Given the description of an element on the screen output the (x, y) to click on. 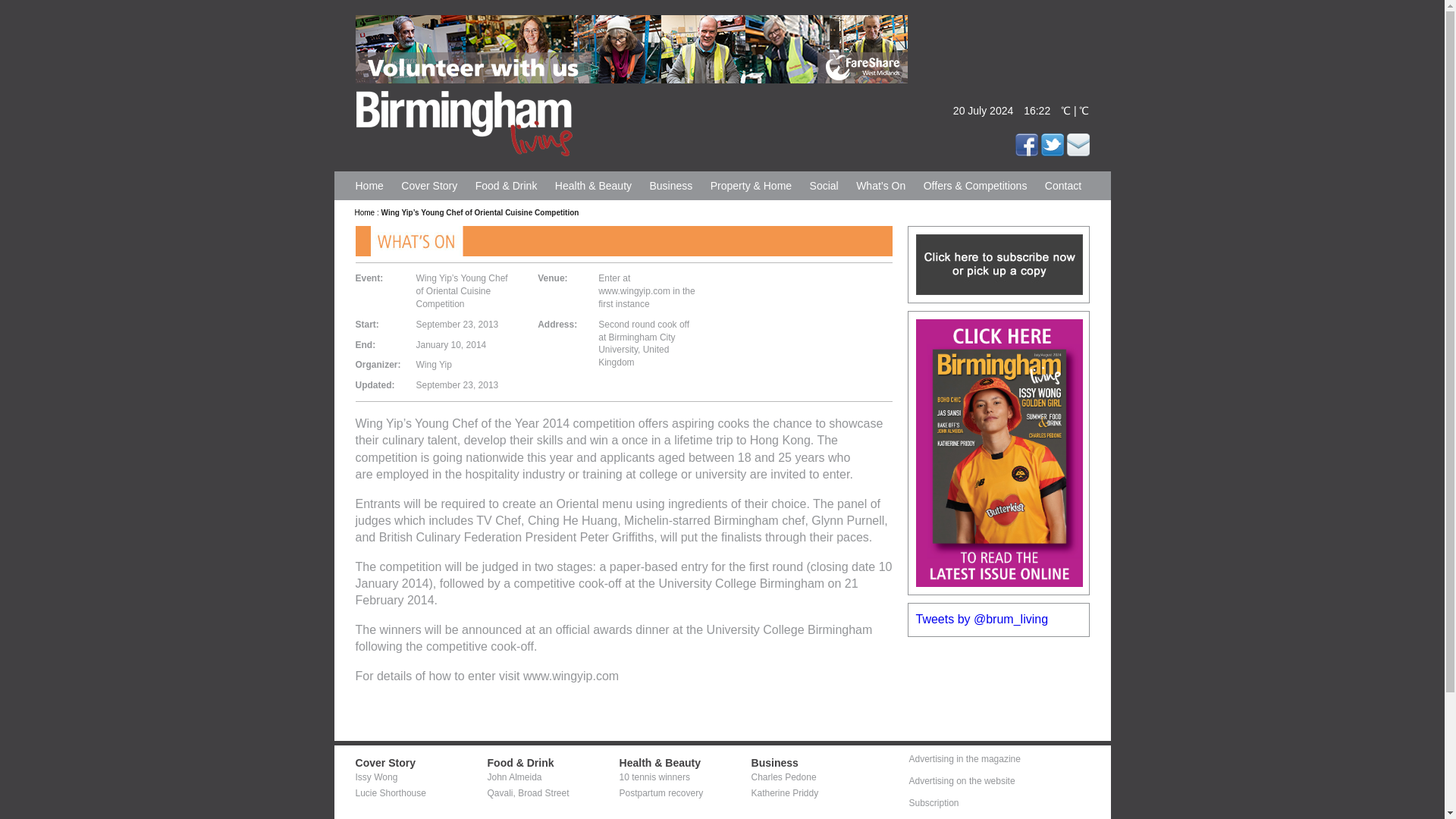
Lucie Shorthouse (390, 792)
Postpartum recovery (660, 792)
Charles Pedone (783, 777)
Cover Story (384, 762)
Permanent link to Charles Pedone (783, 777)
Permanent link to Qavali, Broad Street (527, 792)
Birmingham Living (463, 121)
Permanent link to 10 tennis winners (653, 777)
John Almeida (513, 777)
Home (365, 212)
Permanent link to Lucie Shorthouse (390, 792)
Issy Wong (376, 777)
Contact (1063, 185)
Wing Yip (432, 364)
Business (774, 762)
